Given the description of an element on the screen output the (x, y) to click on. 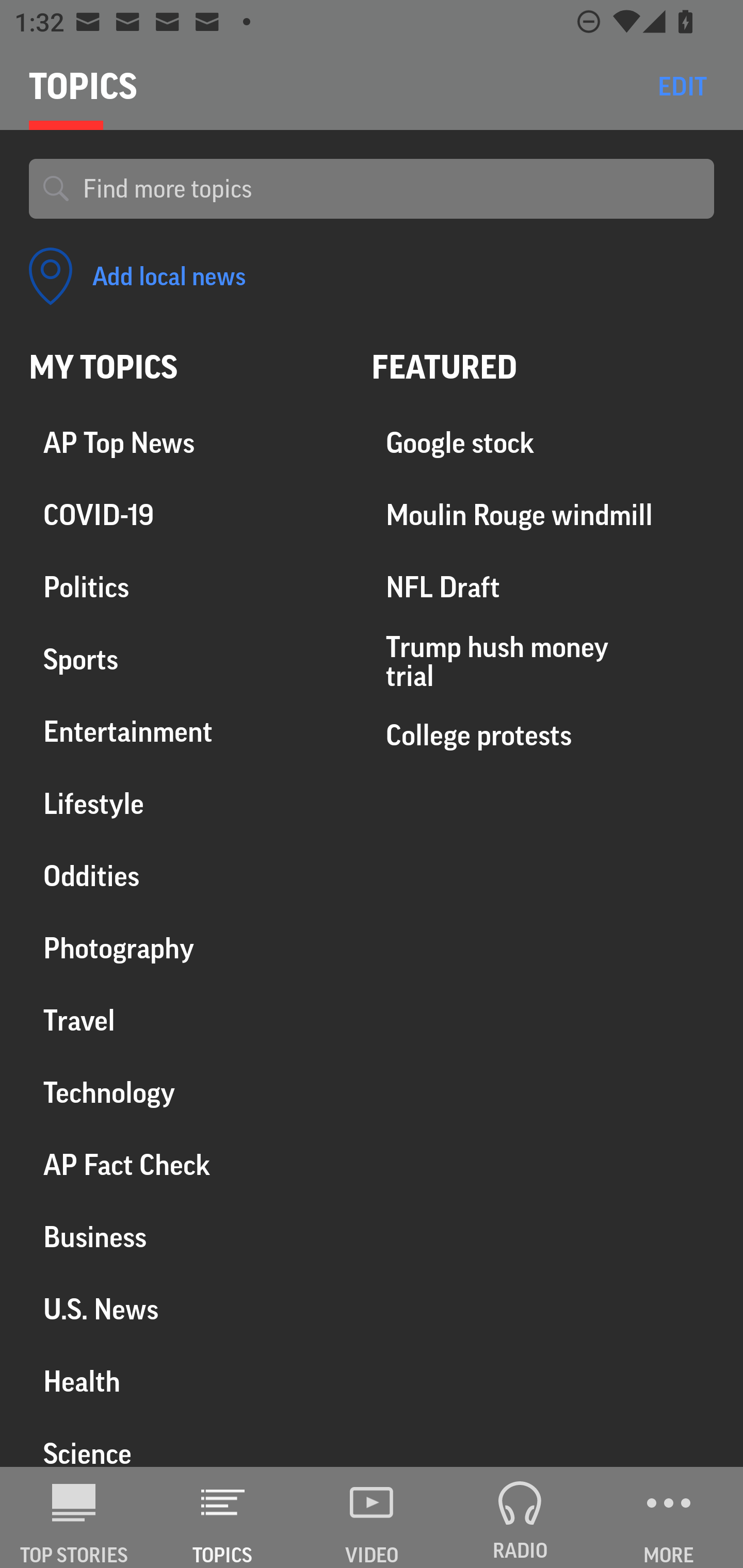
EDIT (682, 86)
Find more topics (391, 188)
Add local news (137, 276)
AP Top News (185, 443)
Google stock (542, 443)
COVID-19 (185, 515)
Moulin Rouge windmill (542, 515)
Politics (185, 587)
NFL Draft (542, 587)
Sports (185, 660)
Trump hush money trial (542, 661)
Entertainment (185, 732)
College protests (542, 735)
Lifestyle (185, 804)
Oddities (185, 876)
Photography (185, 948)
Travel (185, 1020)
Technology (185, 1092)
AP Fact Check (185, 1164)
Business (185, 1237)
U.S. News (185, 1309)
Health (185, 1381)
Science (185, 1442)
AP News TOP STORIES (74, 1517)
TOPICS (222, 1517)
VIDEO (371, 1517)
RADIO (519, 1517)
MORE (668, 1517)
